Given the description of an element on the screen output the (x, y) to click on. 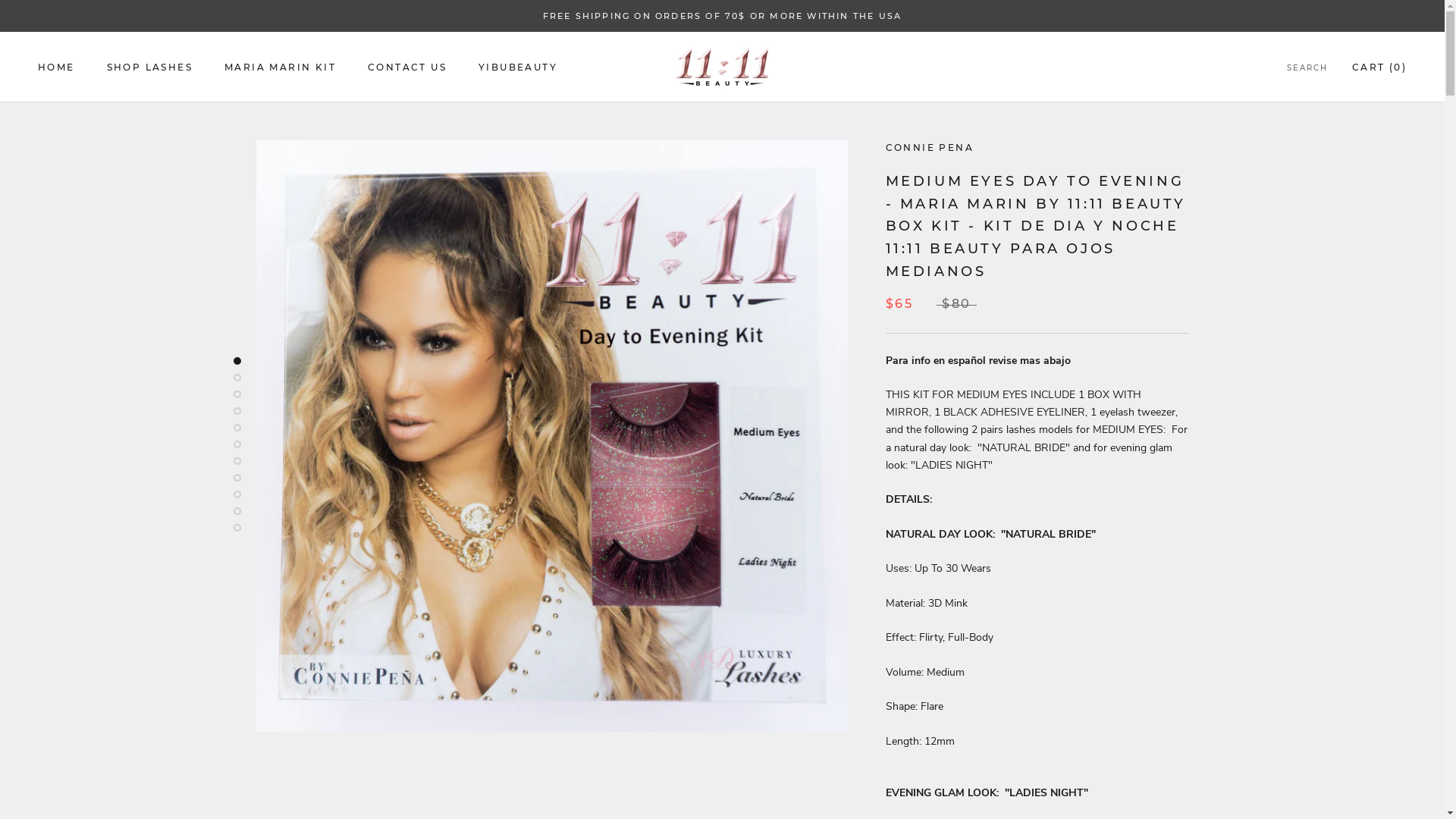
CART (0) Element type: text (1379, 66)
CONTACT US Element type: text (406, 66)
HOME
HOME Element type: text (56, 66)
YIBUBEAUTY
YIBUBEAUTY Element type: text (517, 66)
SHOP LASHES
SHOP LASHES Element type: text (149, 66)
MARIA MARIN KIT
MARIA MARIN KIT Element type: text (279, 66)
SEARCH Element type: text (1306, 68)
